Given the description of an element on the screen output the (x, y) to click on. 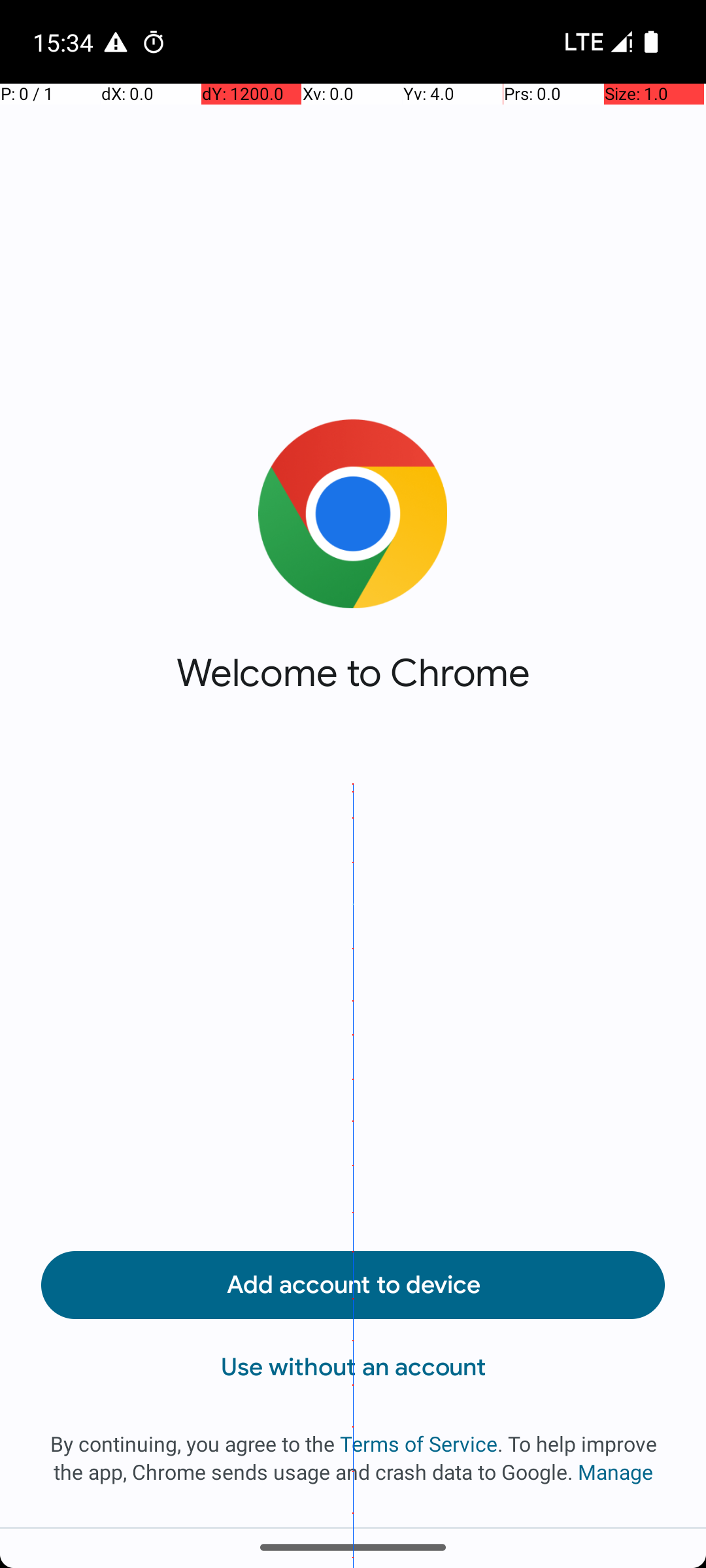
Welcome to Chrome Element type: android.widget.TextView (353, 673)
